Given the description of an element on the screen output the (x, y) to click on. 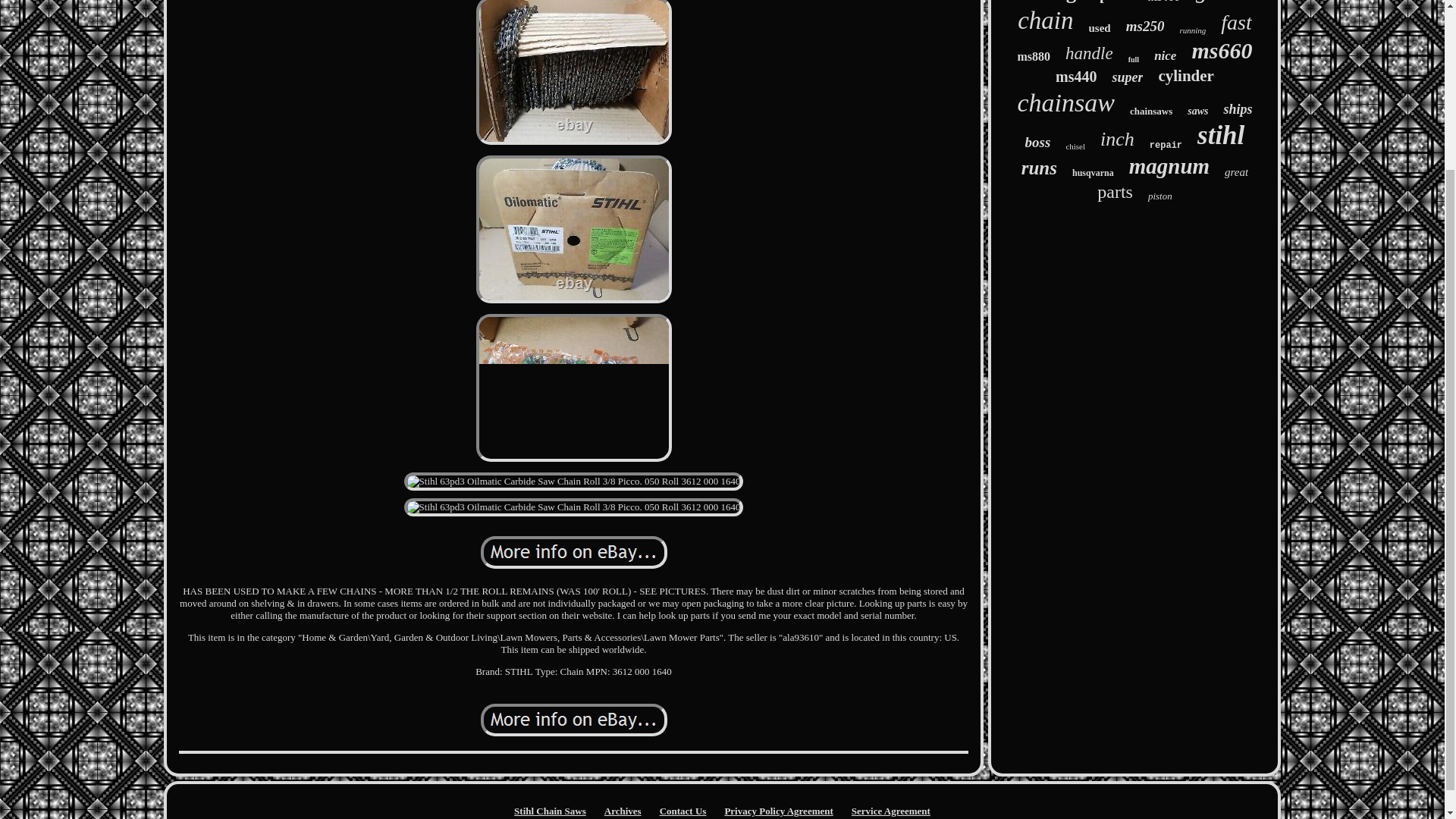
handle (1089, 53)
boss (1038, 142)
vintage (1053, 2)
repair (1166, 145)
saws (1198, 111)
chain (1045, 20)
ms660 (1221, 50)
ms440 (1075, 76)
full (1133, 59)
used (1099, 28)
